Given the description of an element on the screen output the (x, y) to click on. 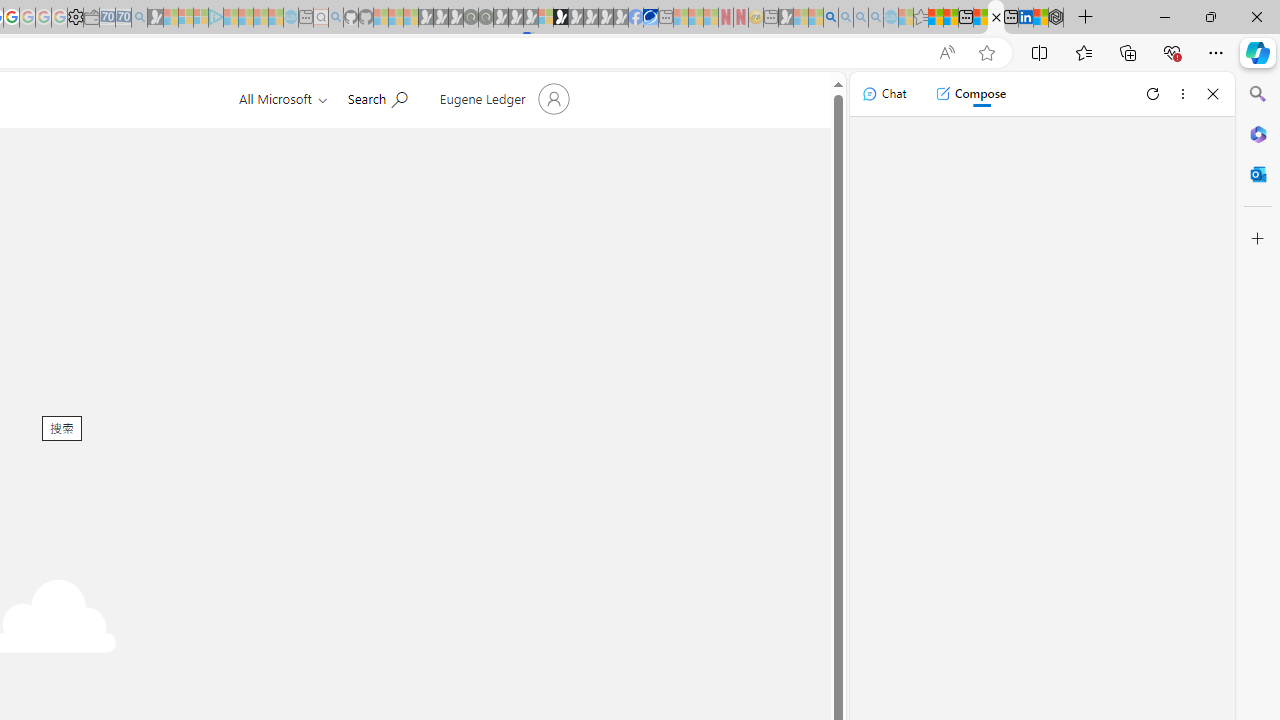
Search for help (377, 97)
Bing AI - Search (831, 17)
Bing Real Estate - Home sales and rental listings - Sleeping (139, 17)
